Given the description of an element on the screen output the (x, y) to click on. 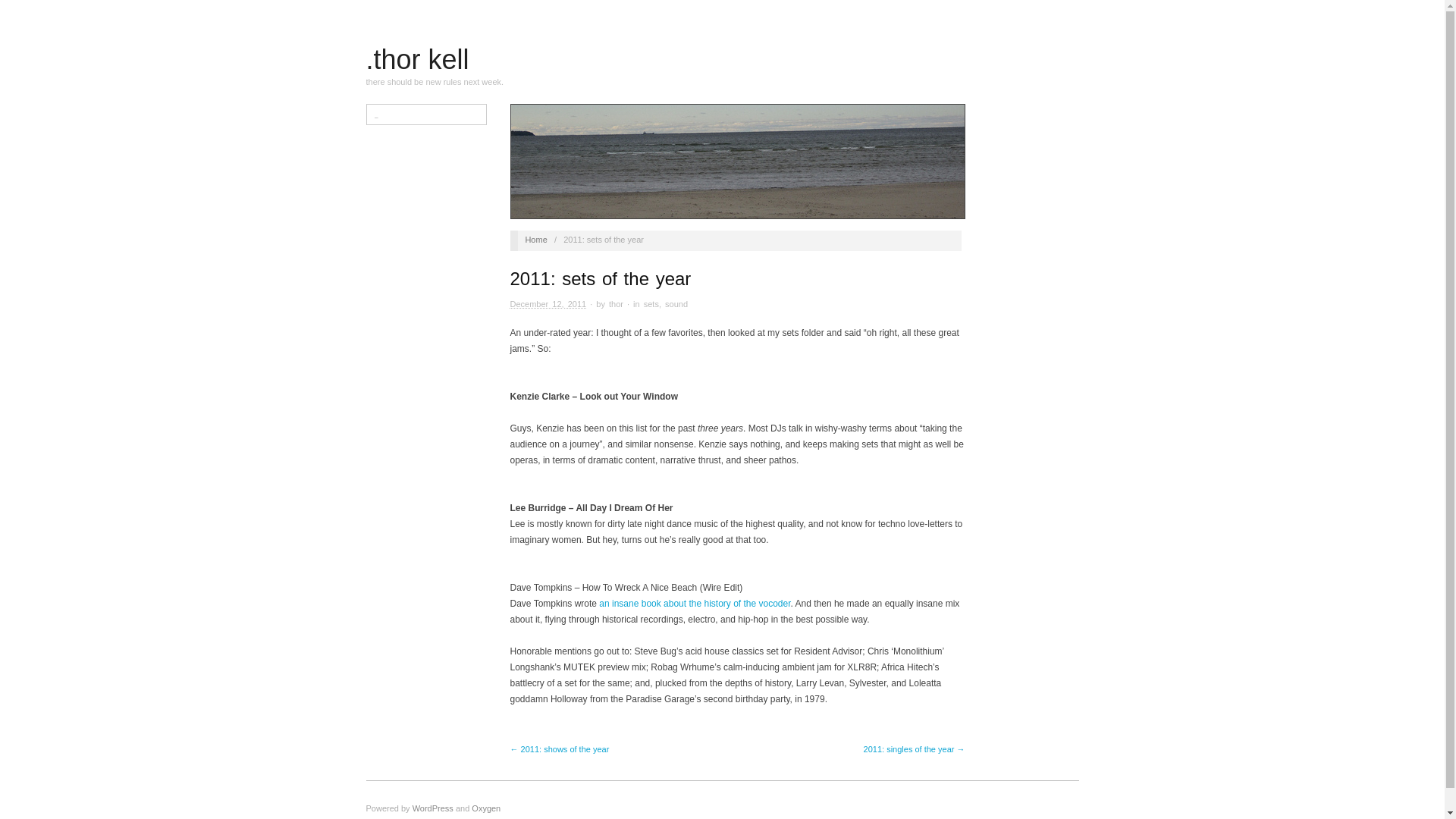
.thor kell (416, 59)
Oxygen WordPress Theme (485, 808)
an insane book about the history of the vocoder (694, 603)
State-of-the-art semantic personal publishing platform (432, 808)
Search (24, 10)
sound (676, 303)
Home (535, 239)
Monday, December 12th, 2011, 12:04 pm (548, 303)
.thor kell (416, 59)
thor (615, 303)
